Given the description of an element on the screen output the (x, y) to click on. 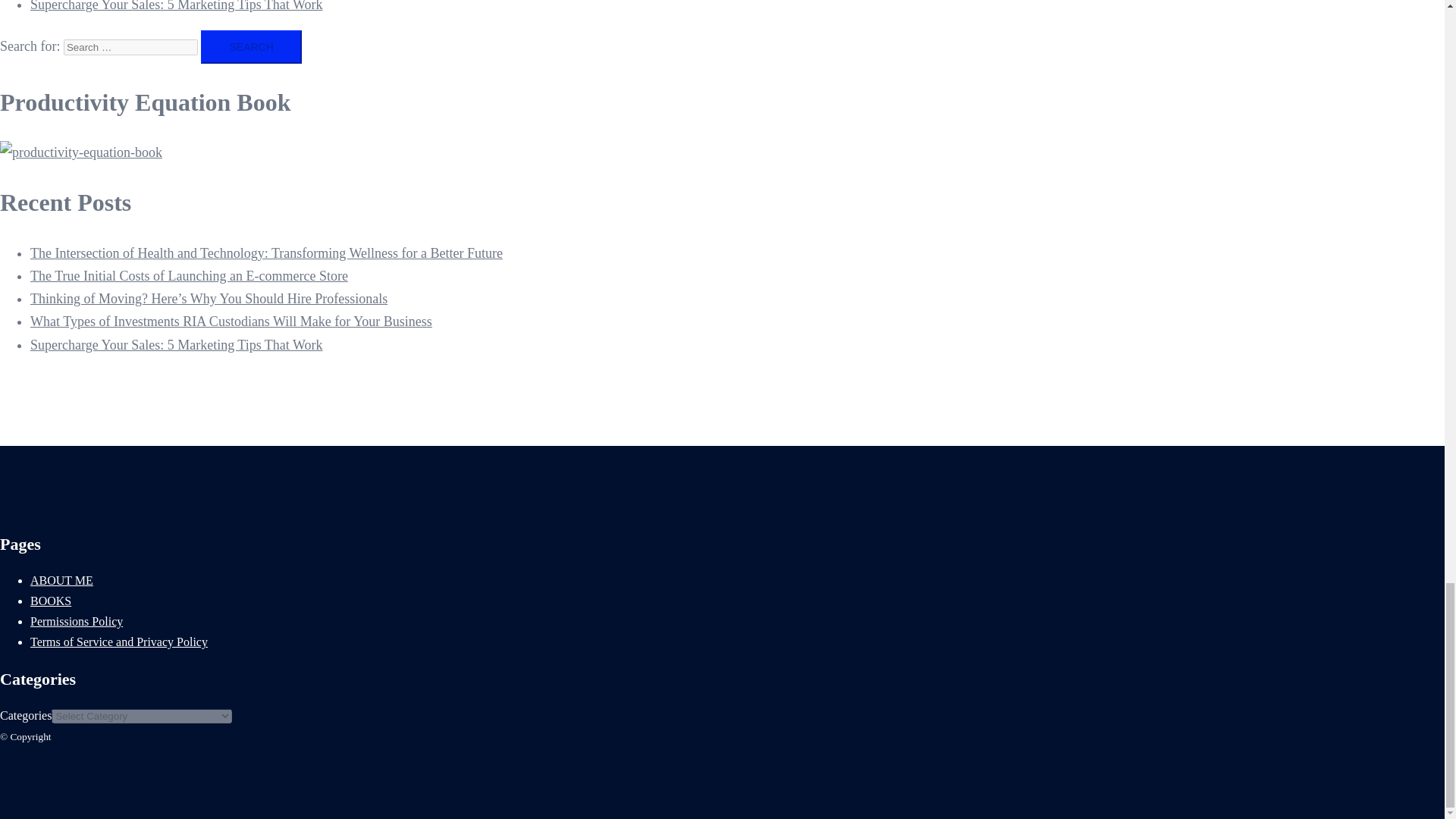
Search (250, 46)
Supercharge Your Sales: 5 Marketing Tips That Work (176, 344)
Search (250, 46)
Search (250, 46)
ABOUT ME (61, 580)
Supercharge Your Sales: 5 Marketing Tips That Work (176, 6)
The True Initial Costs of Launching an E-commerce Store (188, 275)
